Given the description of an element on the screen output the (x, y) to click on. 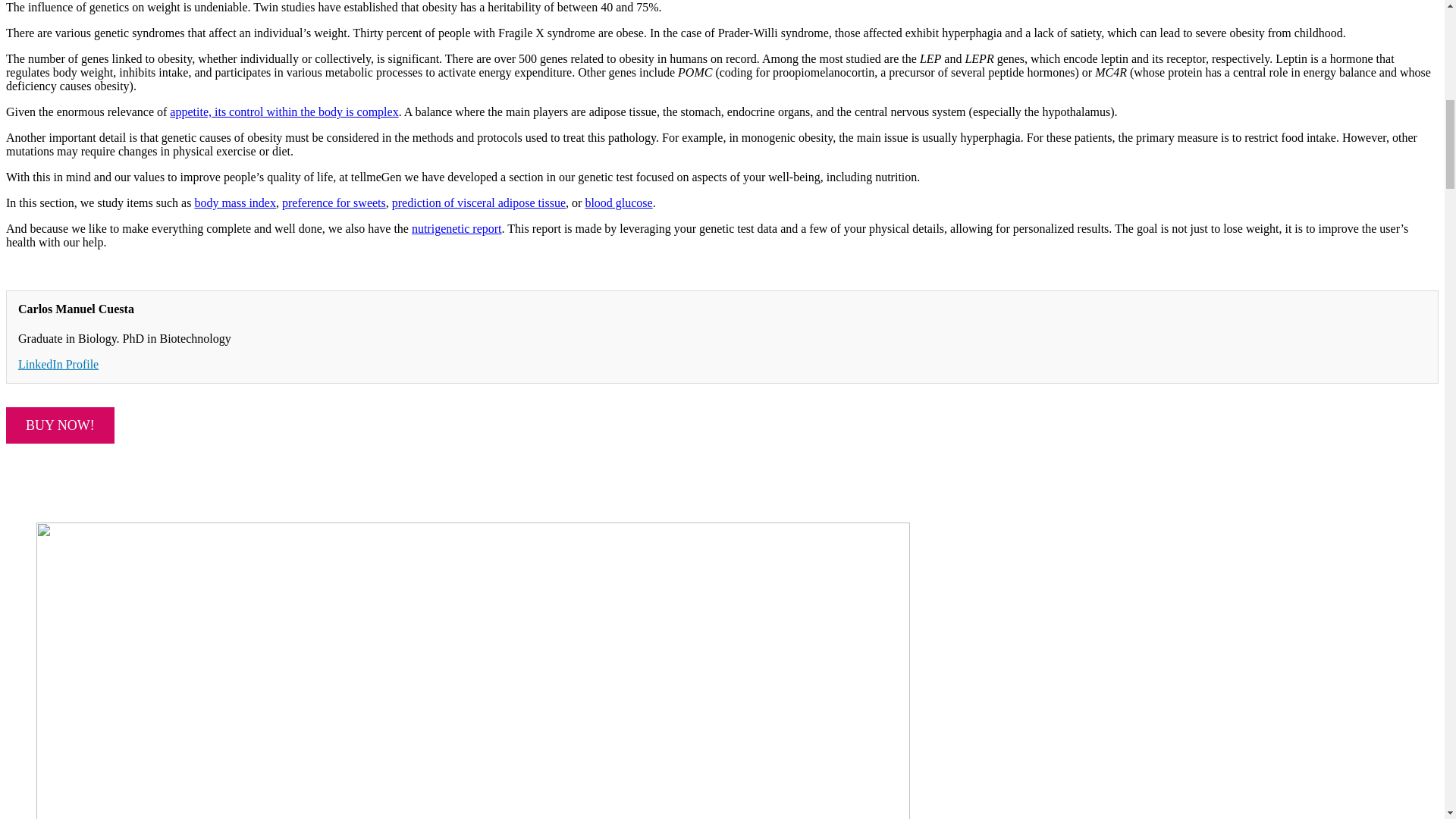
preference for sweets (333, 202)
blood glucose (618, 202)
appetite, its control within the body is complex (283, 111)
body mass index (234, 202)
prediction of visceral adipose tissue (478, 202)
BUY NOW! (60, 425)
nutrigenetic report (457, 228)
LinkedIn Profile (58, 364)
